Given the description of an element on the screen output the (x, y) to click on. 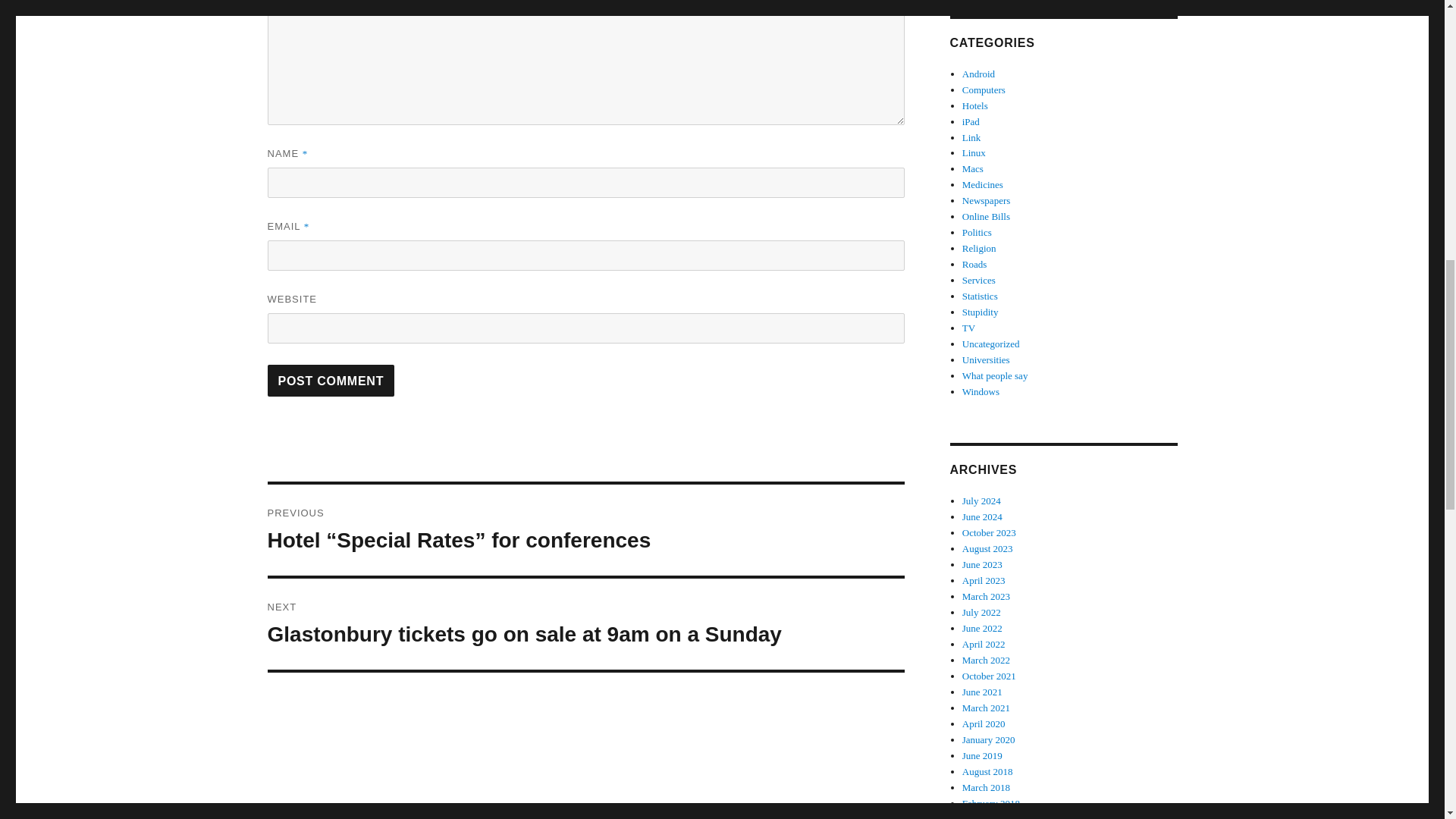
TV (968, 327)
Medicines (982, 184)
Roads (974, 264)
iPad (970, 121)
Link (971, 137)
Post Comment (330, 380)
Macs (973, 168)
Statistics (979, 296)
Online Bills (986, 215)
Religion (978, 247)
